Given the description of an element on the screen output the (x, y) to click on. 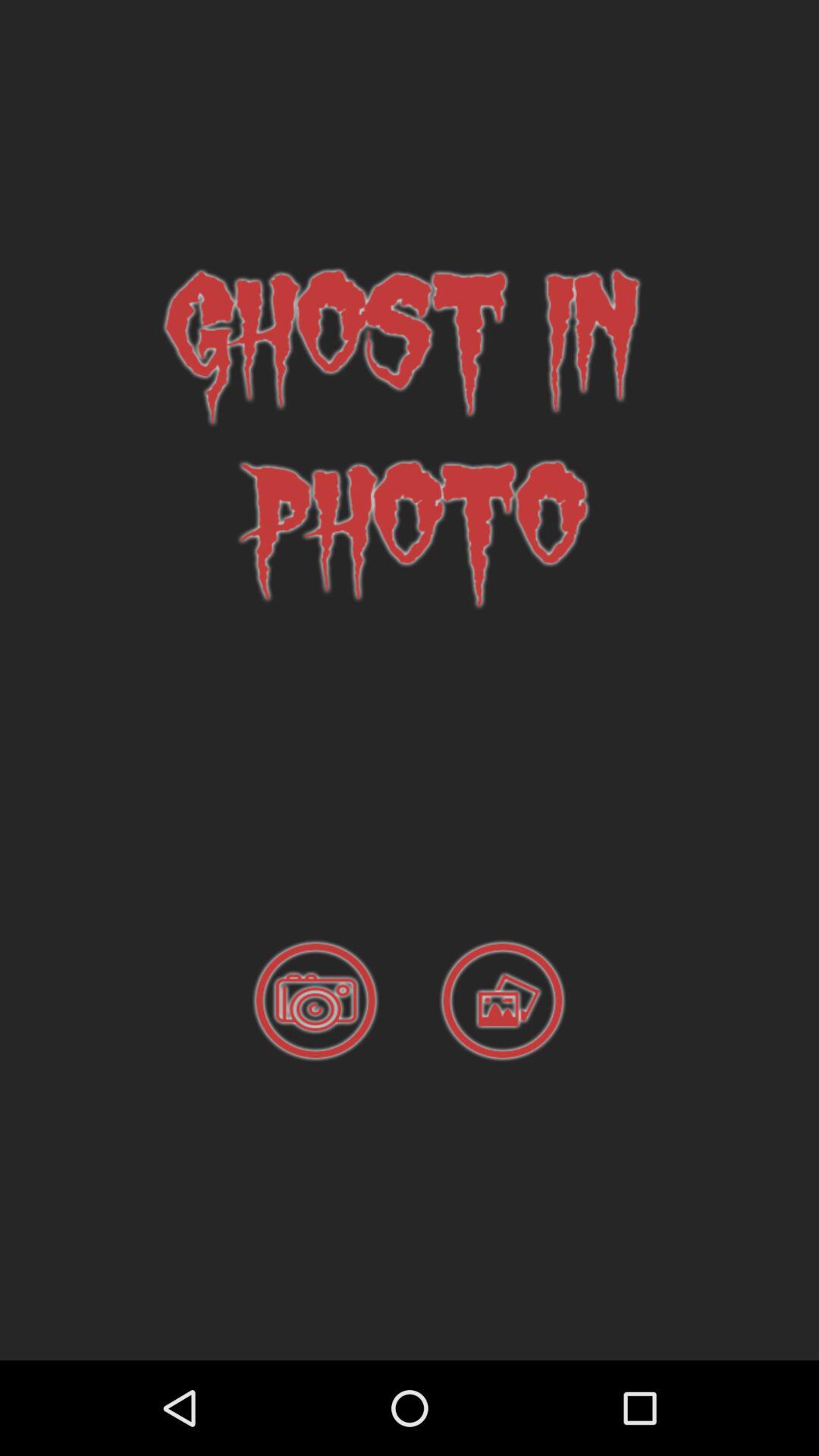
take a picture (315, 1000)
